Given the description of an element on the screen output the (x, y) to click on. 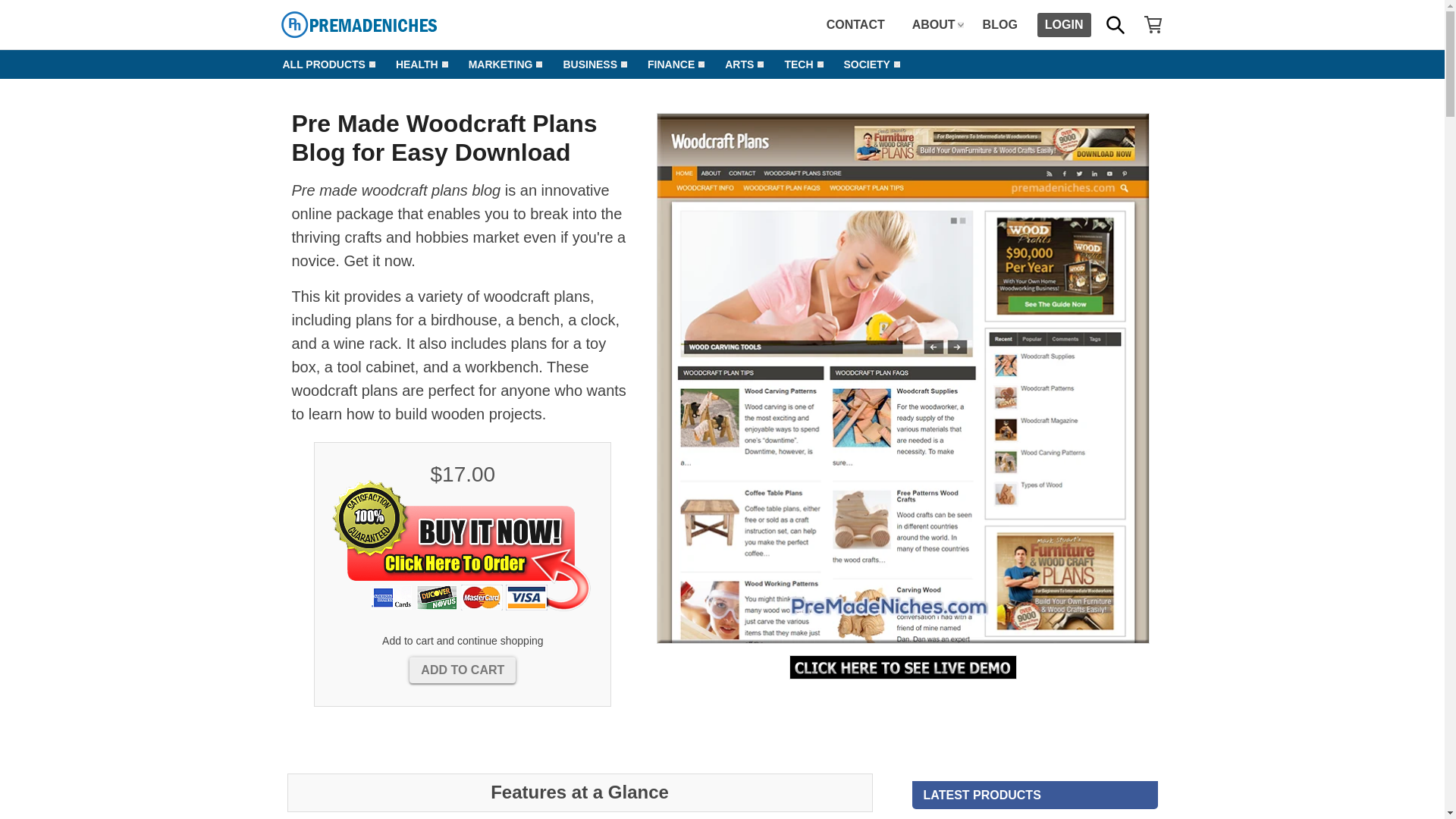
View blog demo for your own assessment (902, 667)
PremadeNiches (392, 24)
SHOPPING CART (1151, 24)
SEARCH (1114, 23)
MARKETING (500, 63)
BLOG (999, 23)
Add to Cart (462, 670)
ABOUT (933, 23)
HEALTH (416, 63)
ALL PRODUCTS (323, 63)
BUSINESS (589, 63)
LOGIN (1063, 24)
CONTACT (855, 23)
